Given the description of an element on the screen output the (x, y) to click on. 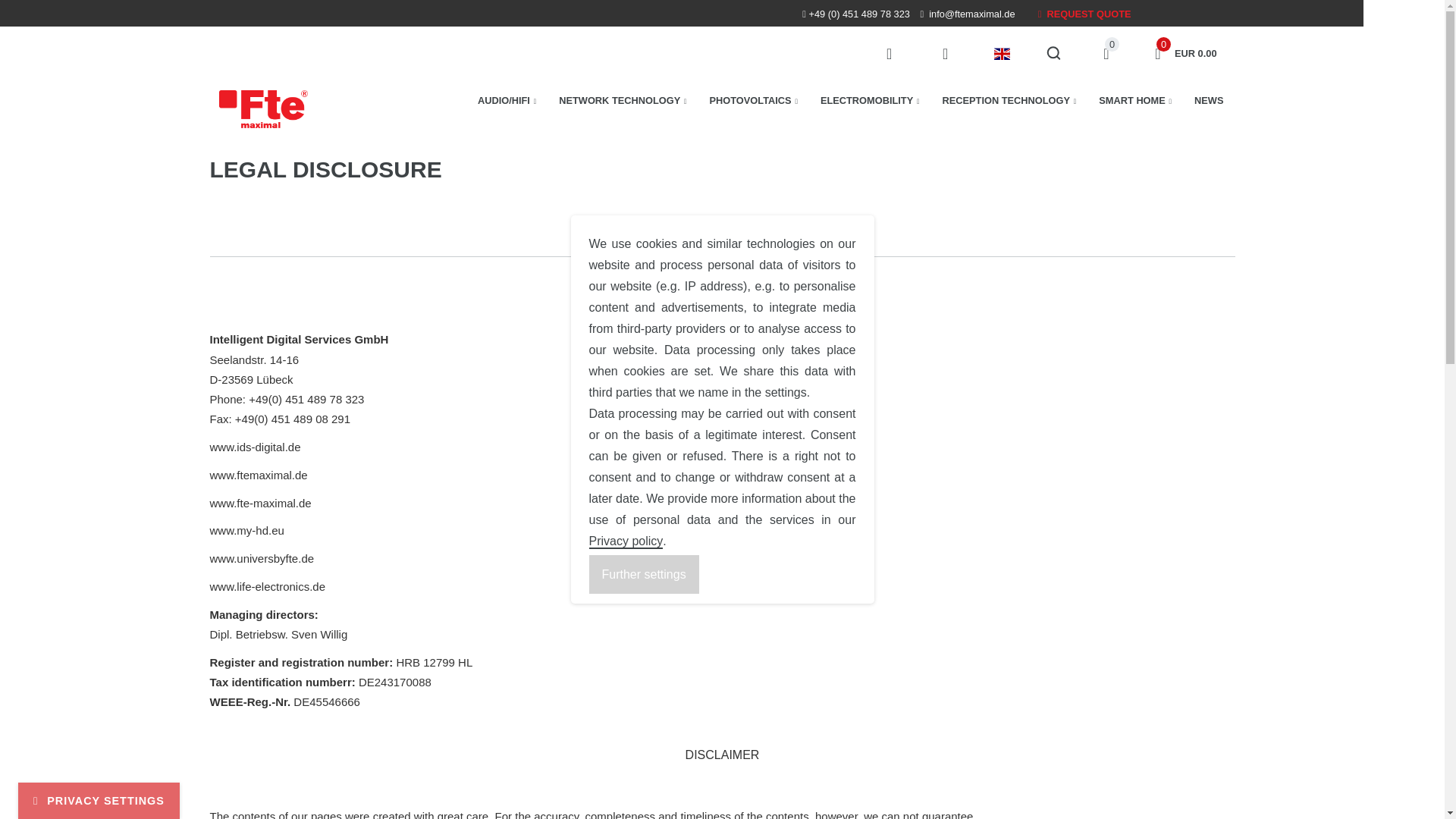
NEWS (1208, 100)
  REQUEST QUOTE (1084, 13)
NETWORK TECHNOLOGY (622, 100)
PHOTOVOLTAICS (1183, 53)
ELECTROMOBILITY (753, 100)
  REQUEST QUOTE (870, 100)
SMART HOME (1084, 13)
0 (1134, 100)
RECEPTION TECHNOLOGY (1106, 53)
